Given the description of an element on the screen output the (x, y) to click on. 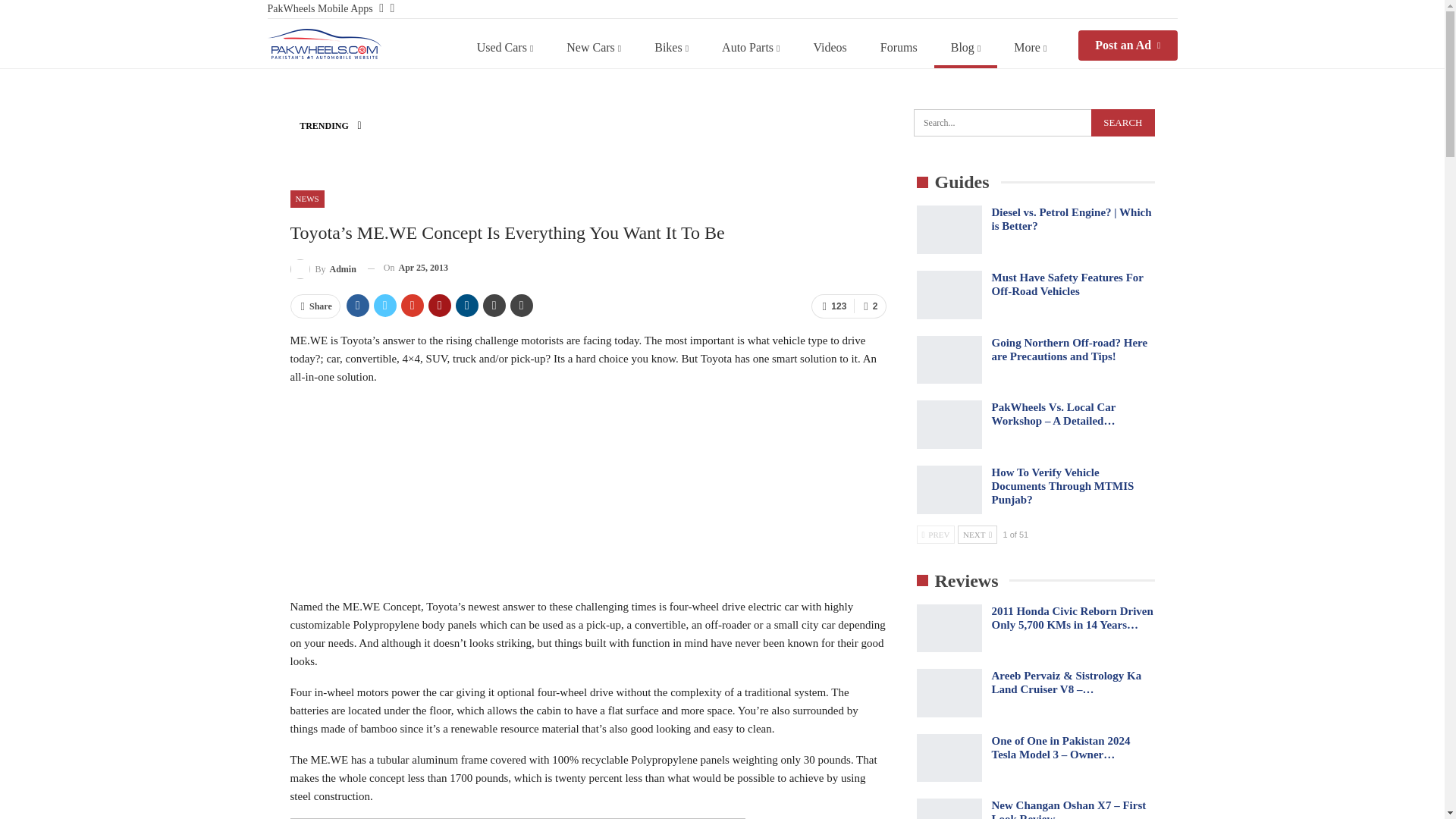
Videos (829, 46)
Search (1122, 122)
Used Cars (505, 46)
Blog (965, 46)
PakWheels Blog (323, 43)
Bikes (670, 46)
Forums (898, 46)
Used Cars for sale in Pakistan (505, 46)
Auto Parts (750, 46)
